Given the description of an element on the screen output the (x, y) to click on. 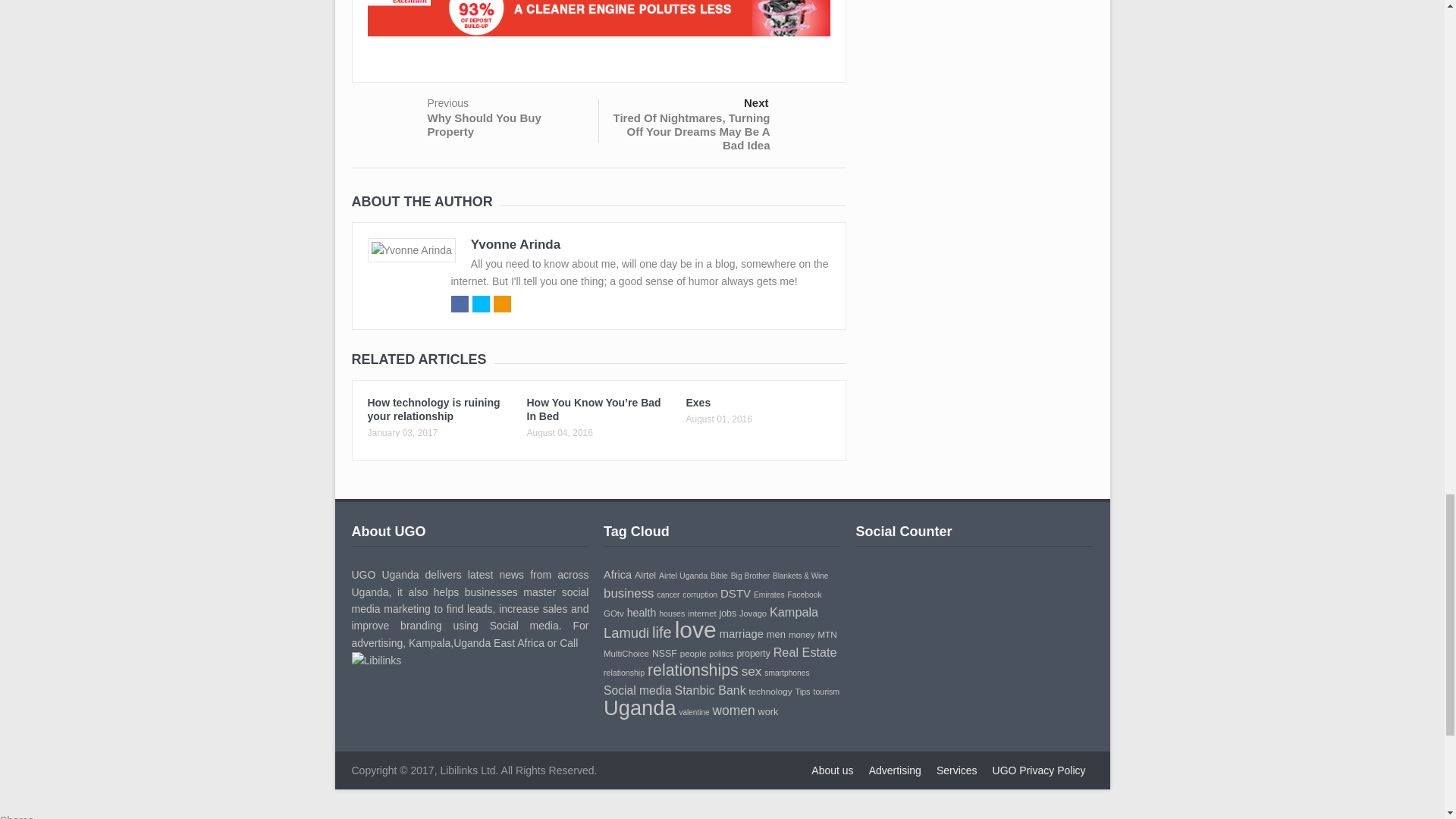
10 topics (699, 594)
32 topics (628, 593)
9 topics (667, 594)
10 topics (750, 575)
9 topics (800, 575)
24 topics (617, 574)
11 topics (683, 574)
10 topics (719, 575)
17 topics (645, 575)
